Given the description of an element on the screen output the (x, y) to click on. 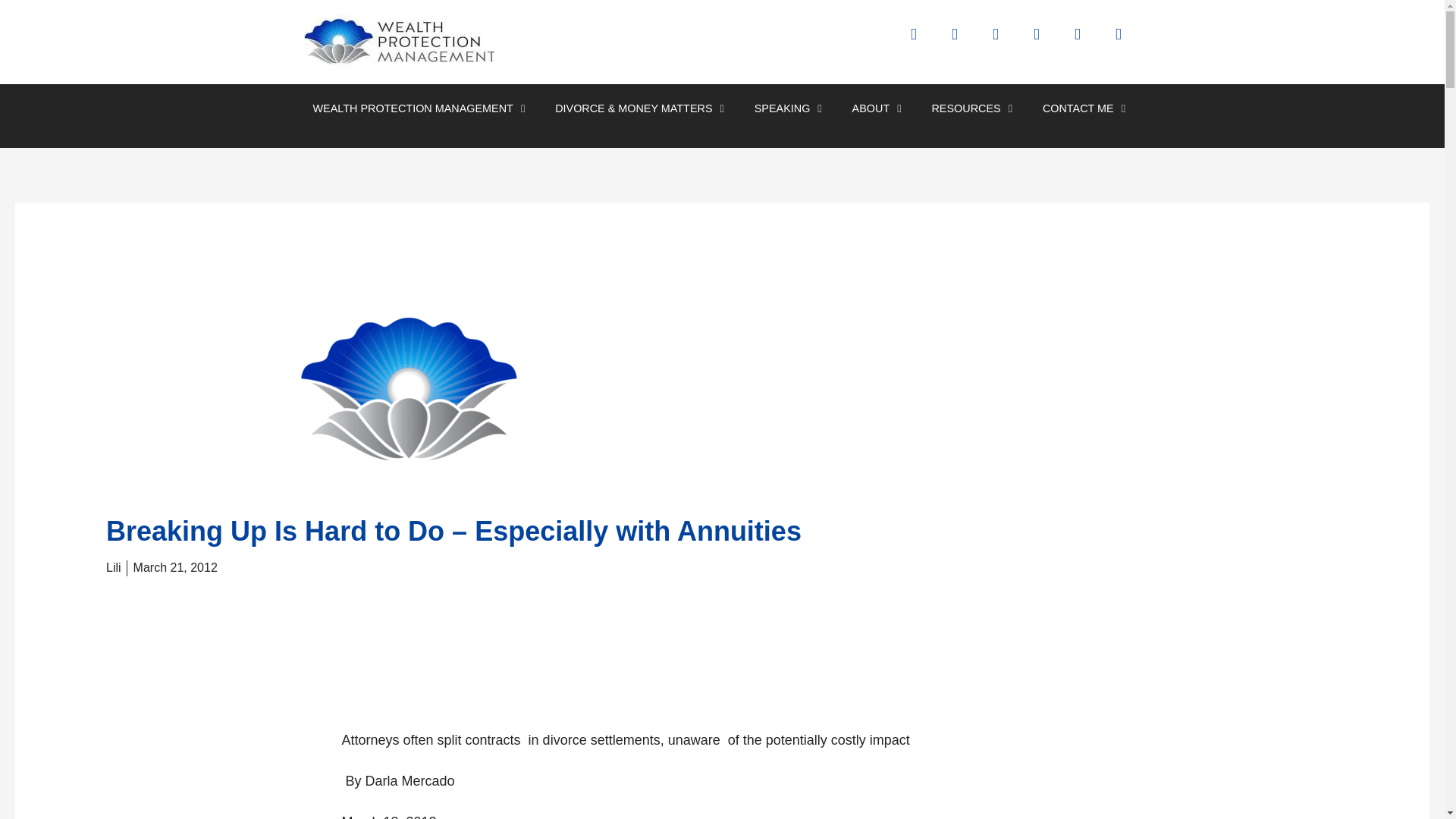
Twitter (962, 41)
Youtube (1084, 41)
WEALTH PROTECTION MANAGEMENT (418, 108)
RESOURCES (970, 108)
Instagram (1043, 41)
SPEAKING (788, 108)
ABOUT (877, 108)
Linkedin (1003, 41)
Facebook (921, 41)
CONTACT ME (1083, 108)
Envelope (1125, 41)
